Given the description of an element on the screen output the (x, y) to click on. 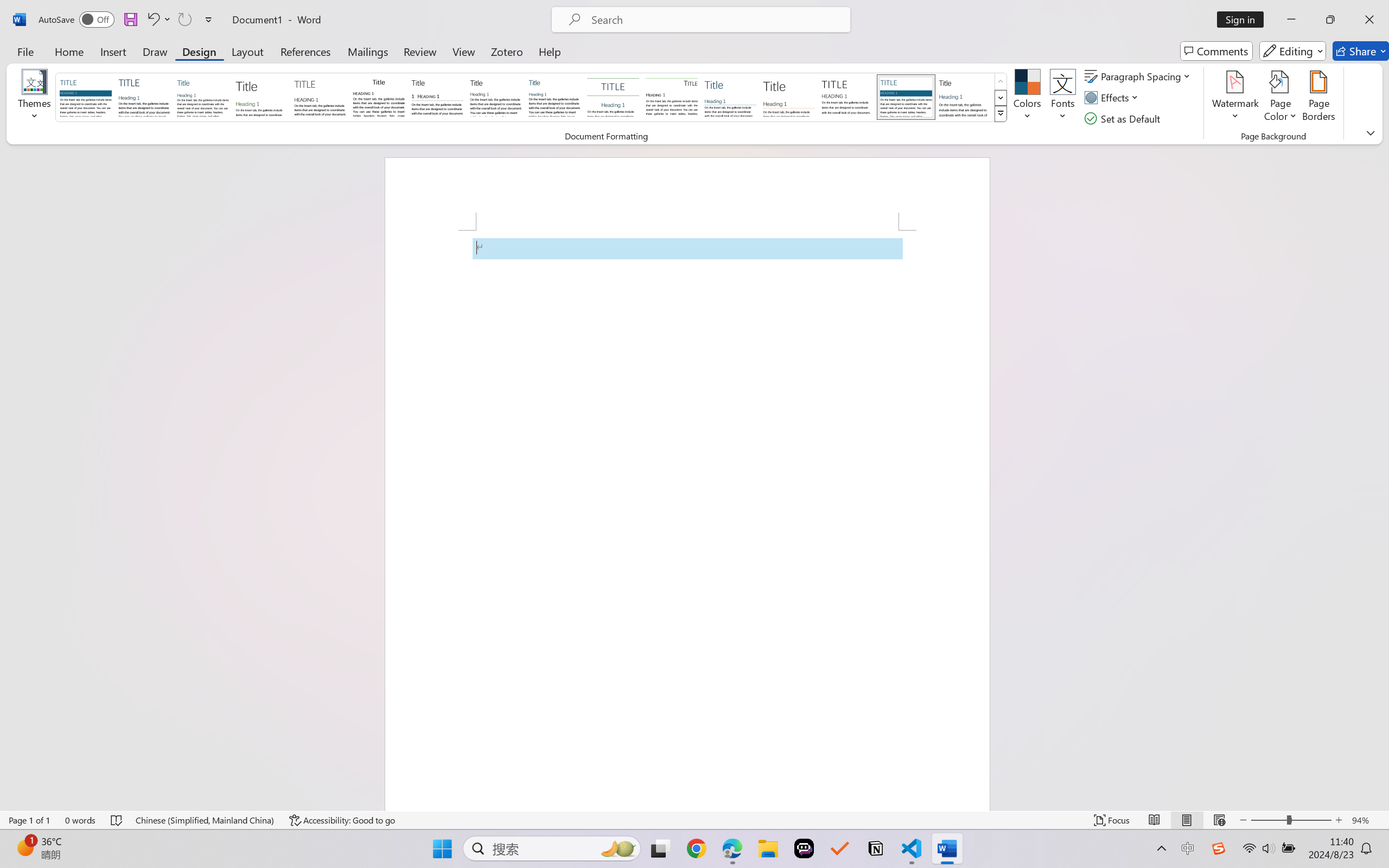
Themes (34, 97)
Casual (554, 96)
Editing (1292, 50)
Style Set (1000, 113)
